Given the description of an element on the screen output the (x, y) to click on. 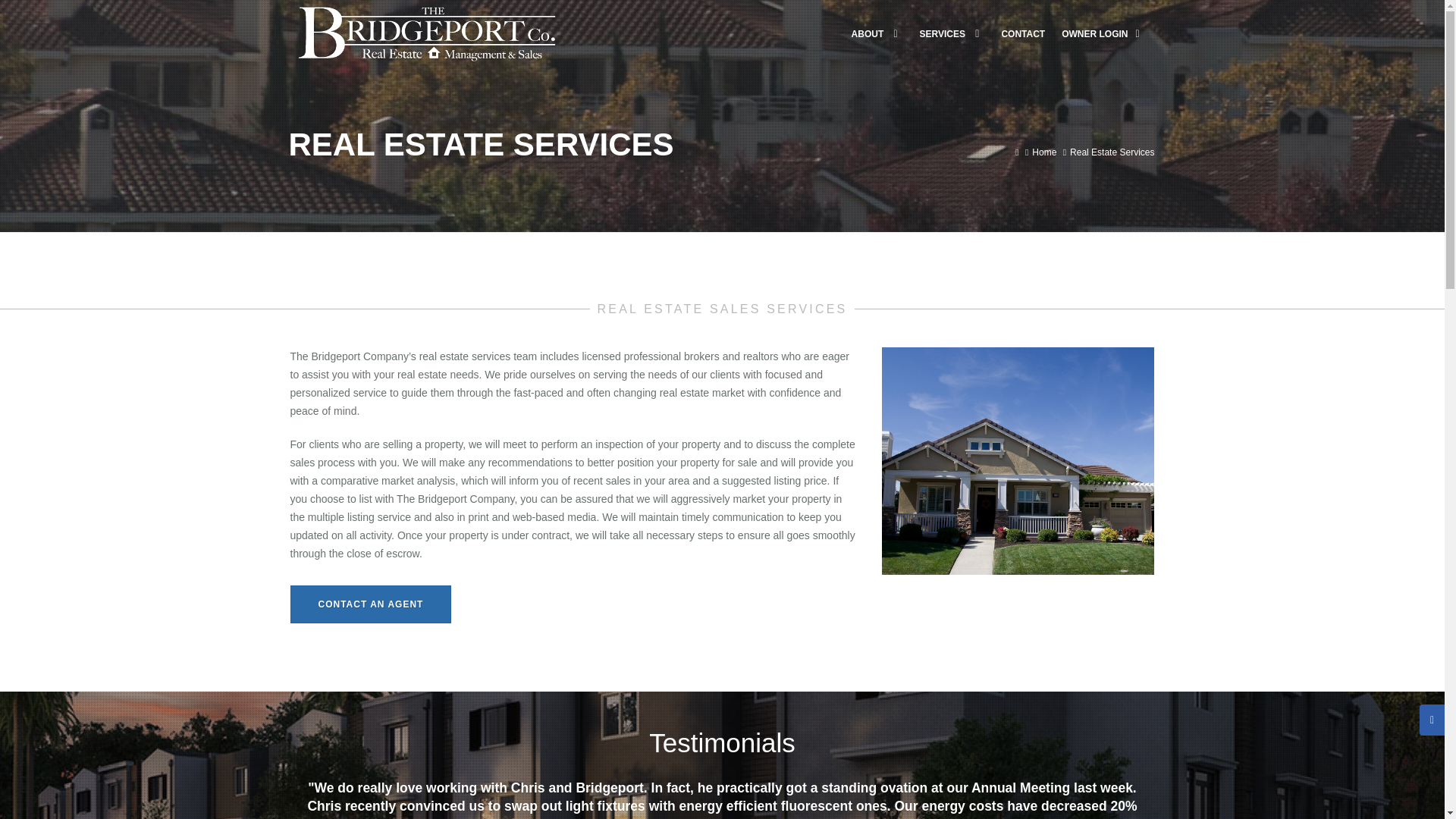
Home (1044, 151)
Real Estate Services (1112, 151)
CONTACT AN AGENT (370, 604)
SERVICES (952, 33)
ABOUT (877, 33)
OWNER LOGIN (1104, 33)
